Given the description of an element on the screen output the (x, y) to click on. 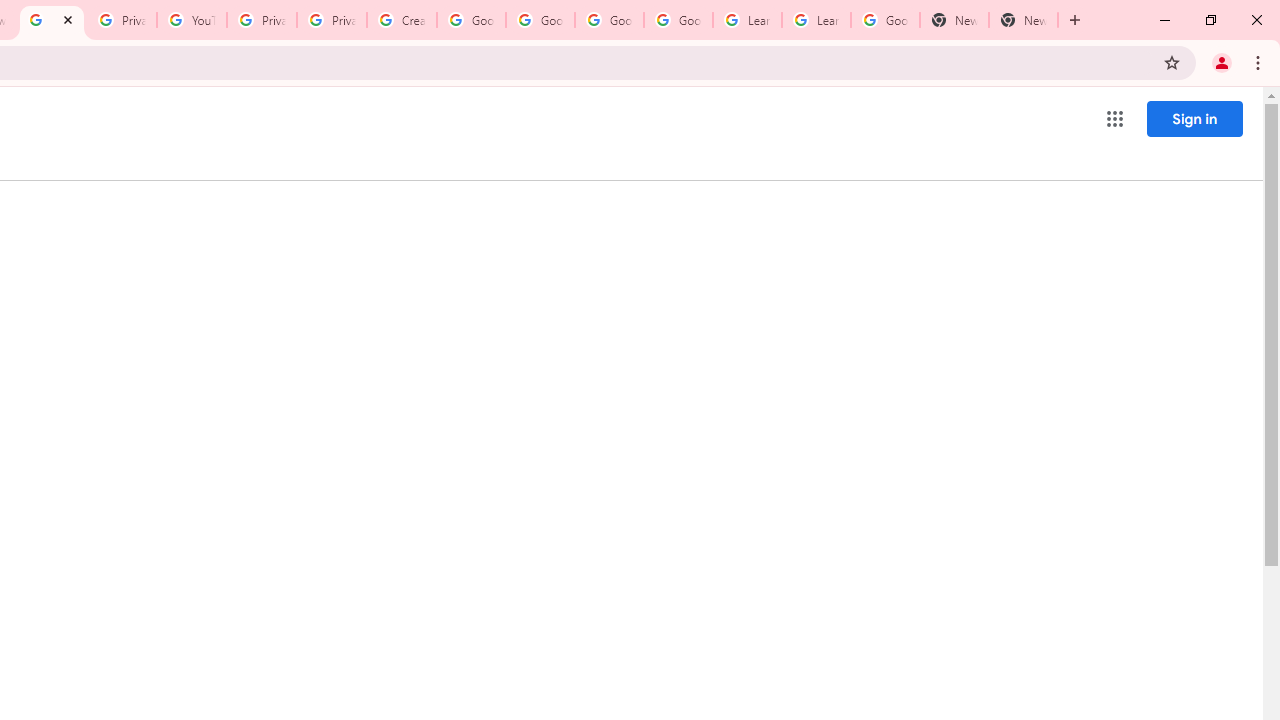
Google Account Help (677, 20)
Google Account (885, 20)
Google Account Help (608, 20)
Create your Google Account (401, 20)
Google Account Help (539, 20)
Google Account Help (470, 20)
